Given the description of an element on the screen output the (x, y) to click on. 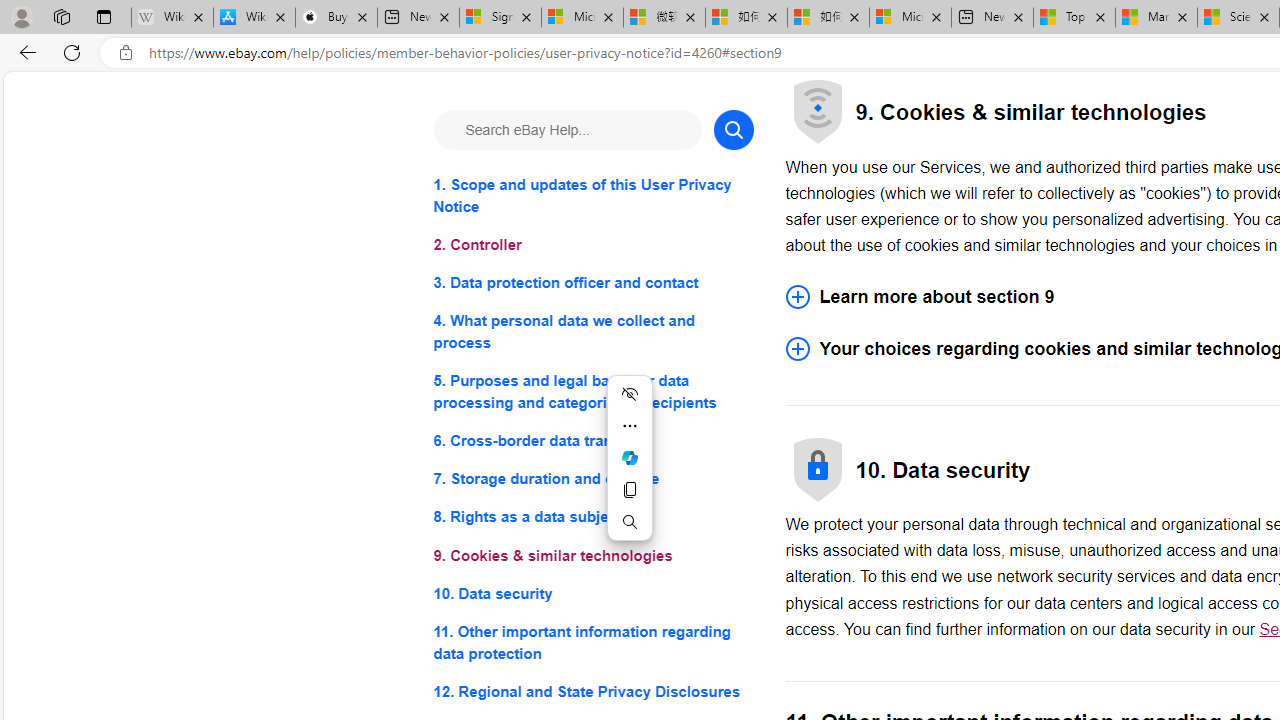
Marine life - MSN (1156, 17)
Search eBay Help... (566, 129)
3. Data protection officer and contact (592, 283)
Copy (629, 489)
9. Cookies & similar technologies (592, 555)
